Given the description of an element on the screen output the (x, y) to click on. 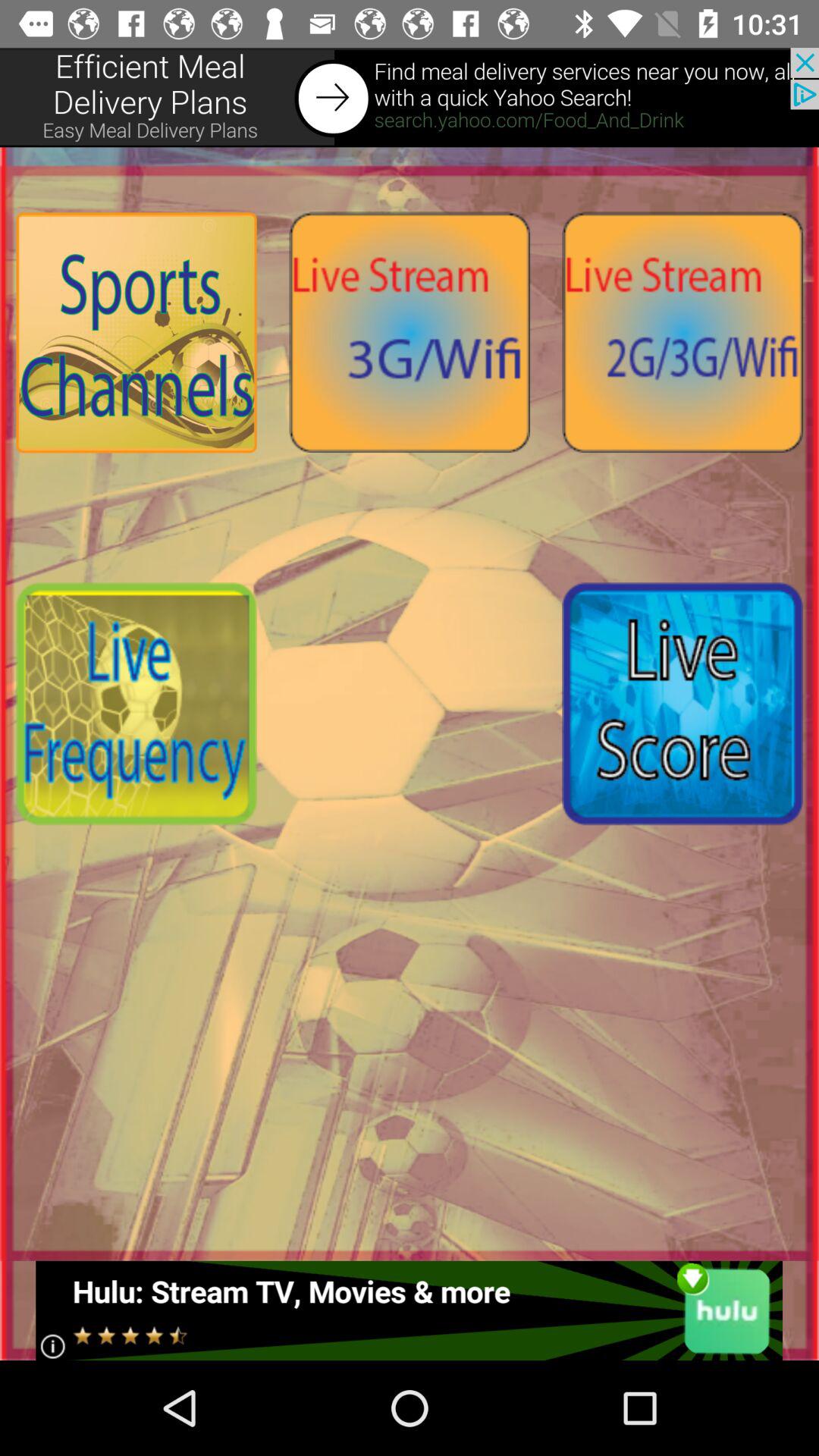
click advertisement (408, 1310)
